Given the description of an element on the screen output the (x, y) to click on. 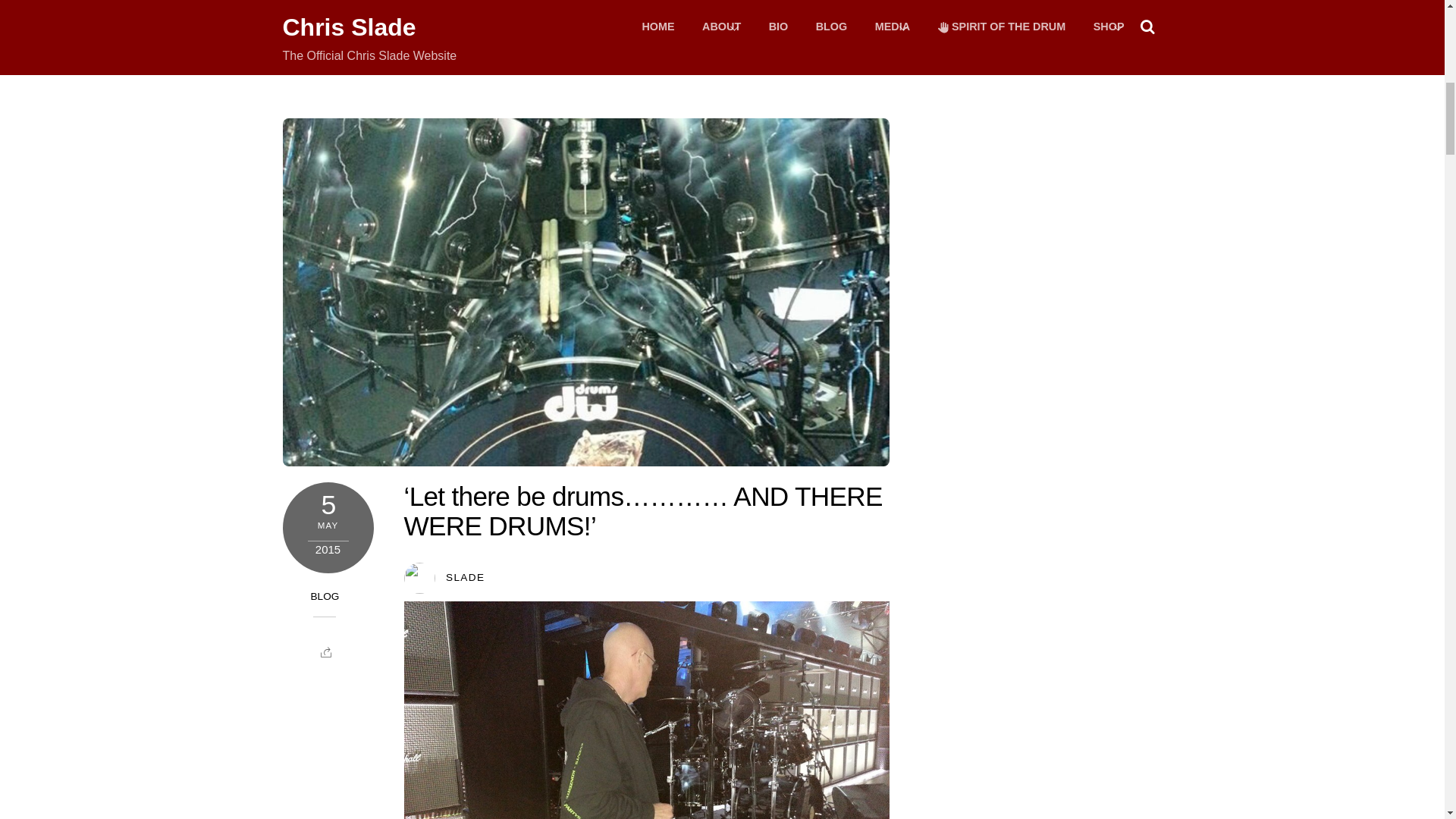
BLOG (325, 595)
BLOG (325, 9)
SLADE (464, 577)
